Given the description of an element on the screen output the (x, y) to click on. 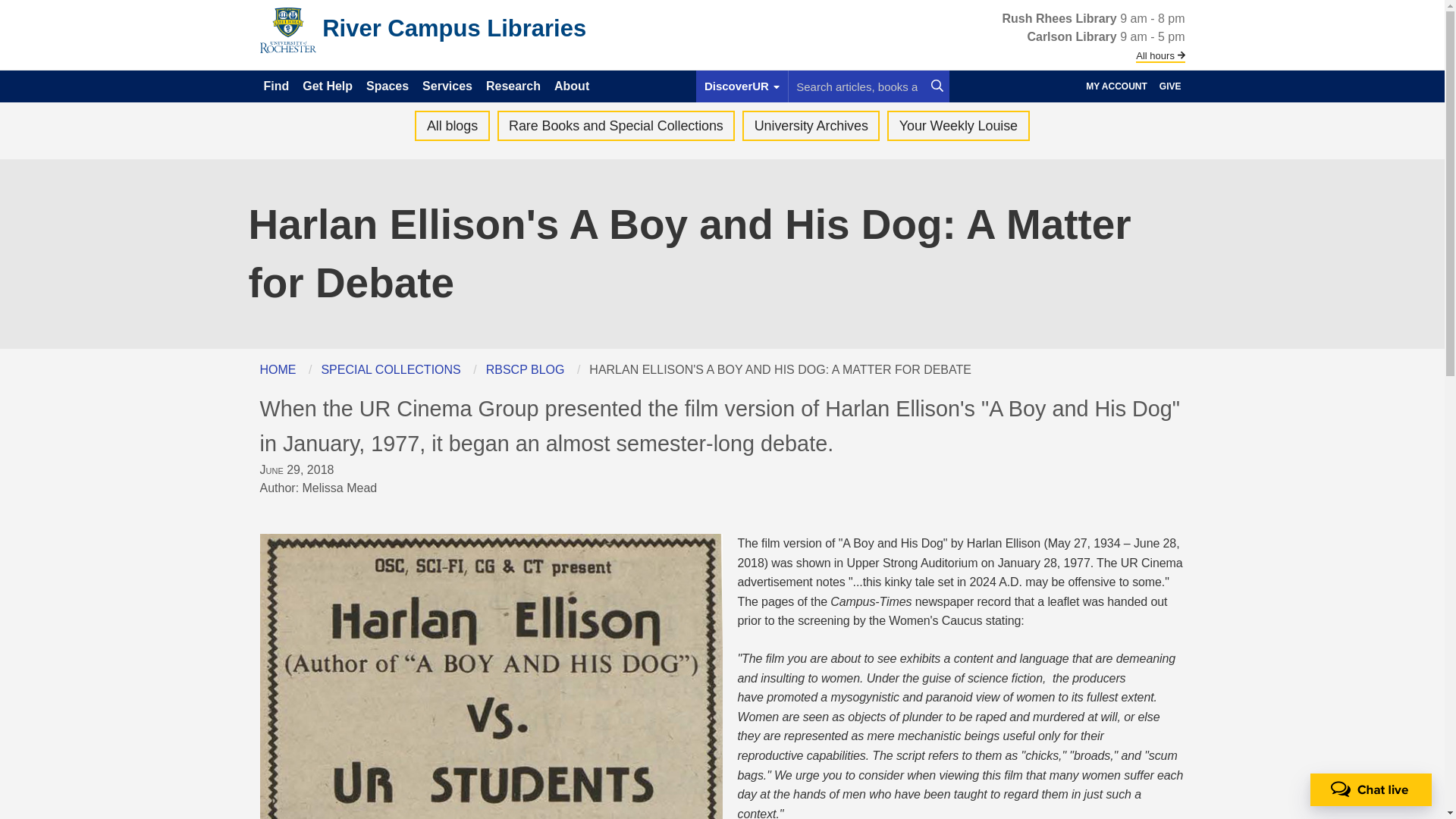
RBSCP BLOG (525, 369)
Research (513, 84)
Home (453, 28)
All blogs (451, 125)
Find (277, 84)
River Campus Libraries (453, 28)
Spaces (388, 84)
SPECIAL COLLECTIONS (390, 369)
Get Help (327, 84)
All hours (1160, 54)
Carlson Library (1072, 36)
Rush Rhees Library (1062, 18)
HOME (277, 369)
Services (448, 84)
